Given the description of an element on the screen output the (x, y) to click on. 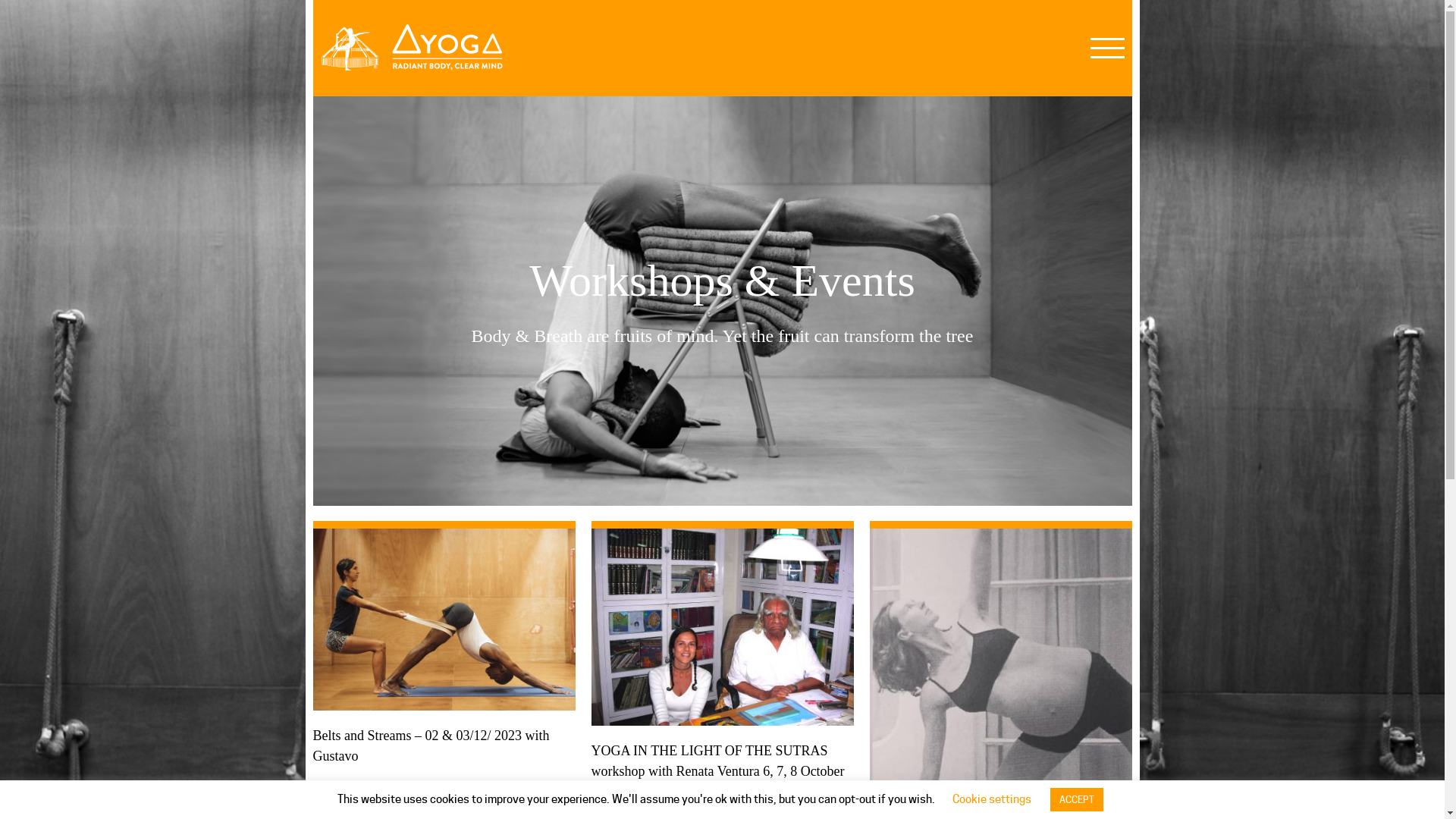
ACCEPT Element type: text (1076, 799)
Cookie settings Element type: text (991, 799)
